Given the description of an element on the screen output the (x, y) to click on. 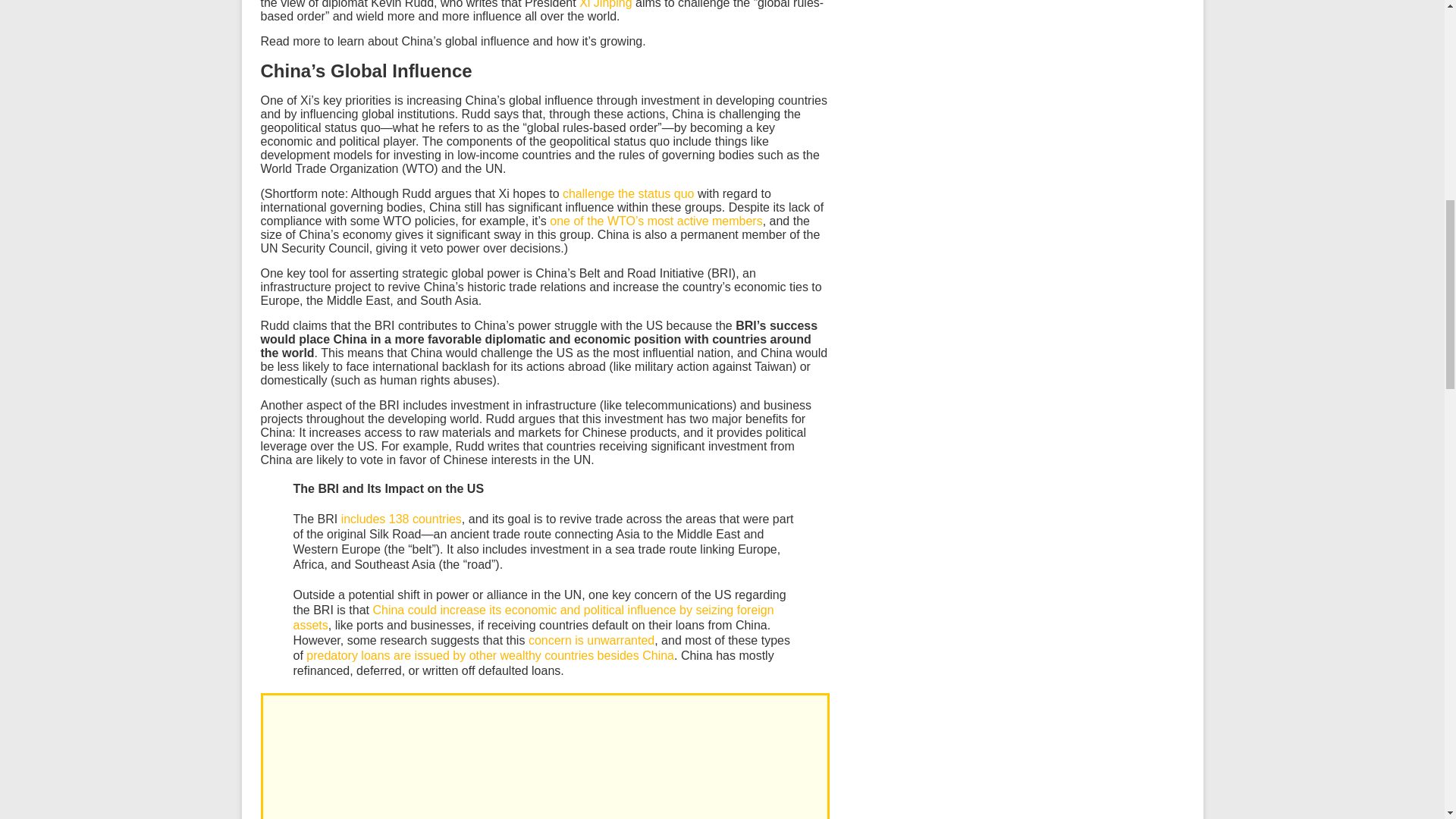
challenge the status quo (628, 193)
Xi Jinping (605, 4)
concern is unwarranted (590, 640)
includes 138 countries (400, 518)
